Given the description of an element on the screen output the (x, y) to click on. 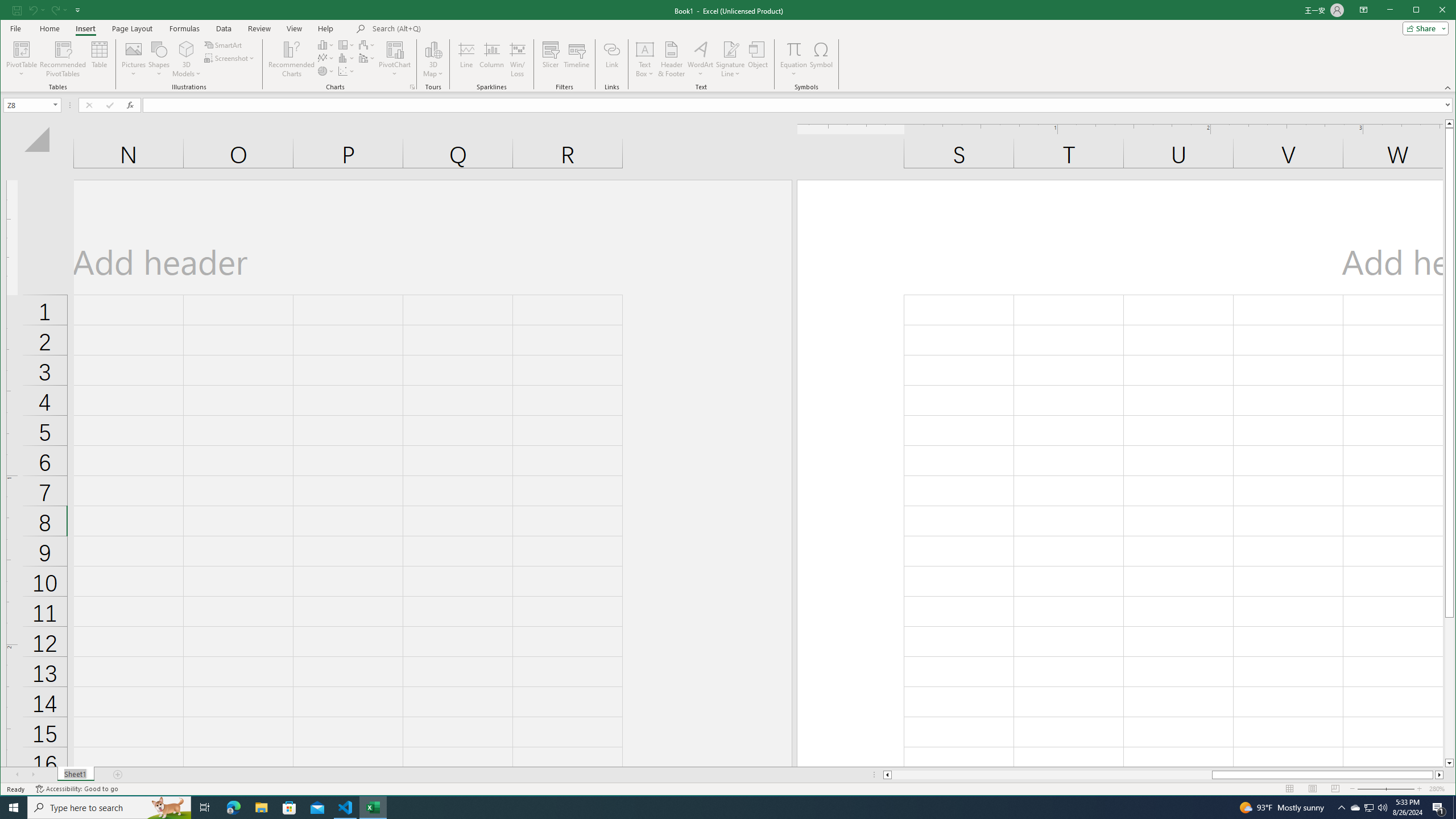
Task View (204, 807)
Screenshot (229, 57)
3D Models (186, 48)
Slicer... (550, 59)
Insert Line or Area Chart (325, 57)
